Given the description of an element on the screen output the (x, y) to click on. 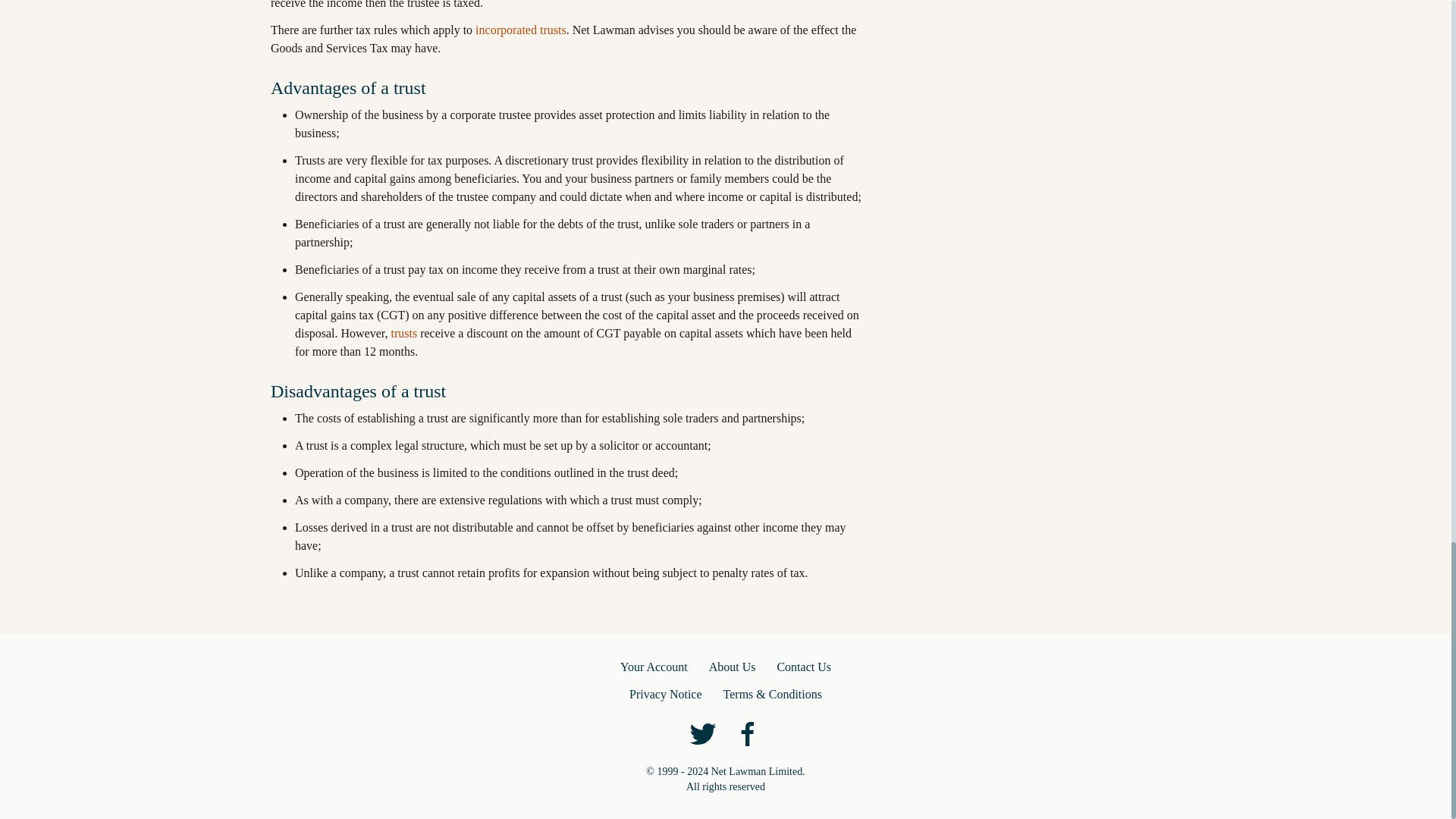
About Us (732, 667)
Contact Us (803, 667)
Privacy Notice (664, 694)
trusts (403, 332)
incorporated trusts (521, 29)
Your Account (653, 667)
